Given the description of an element on the screen output the (x, y) to click on. 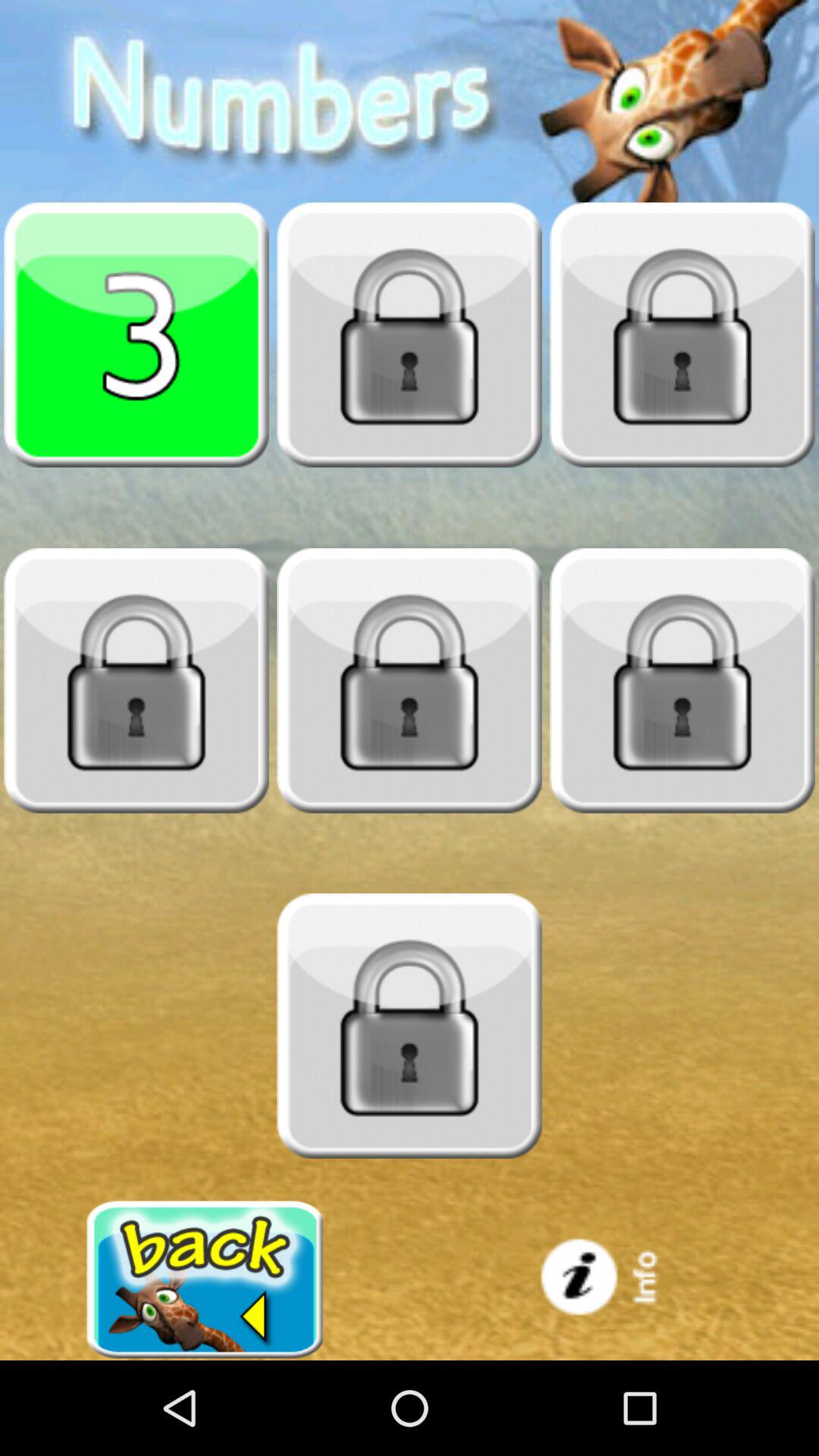
lock (409, 680)
